Given the description of an element on the screen output the (x, y) to click on. 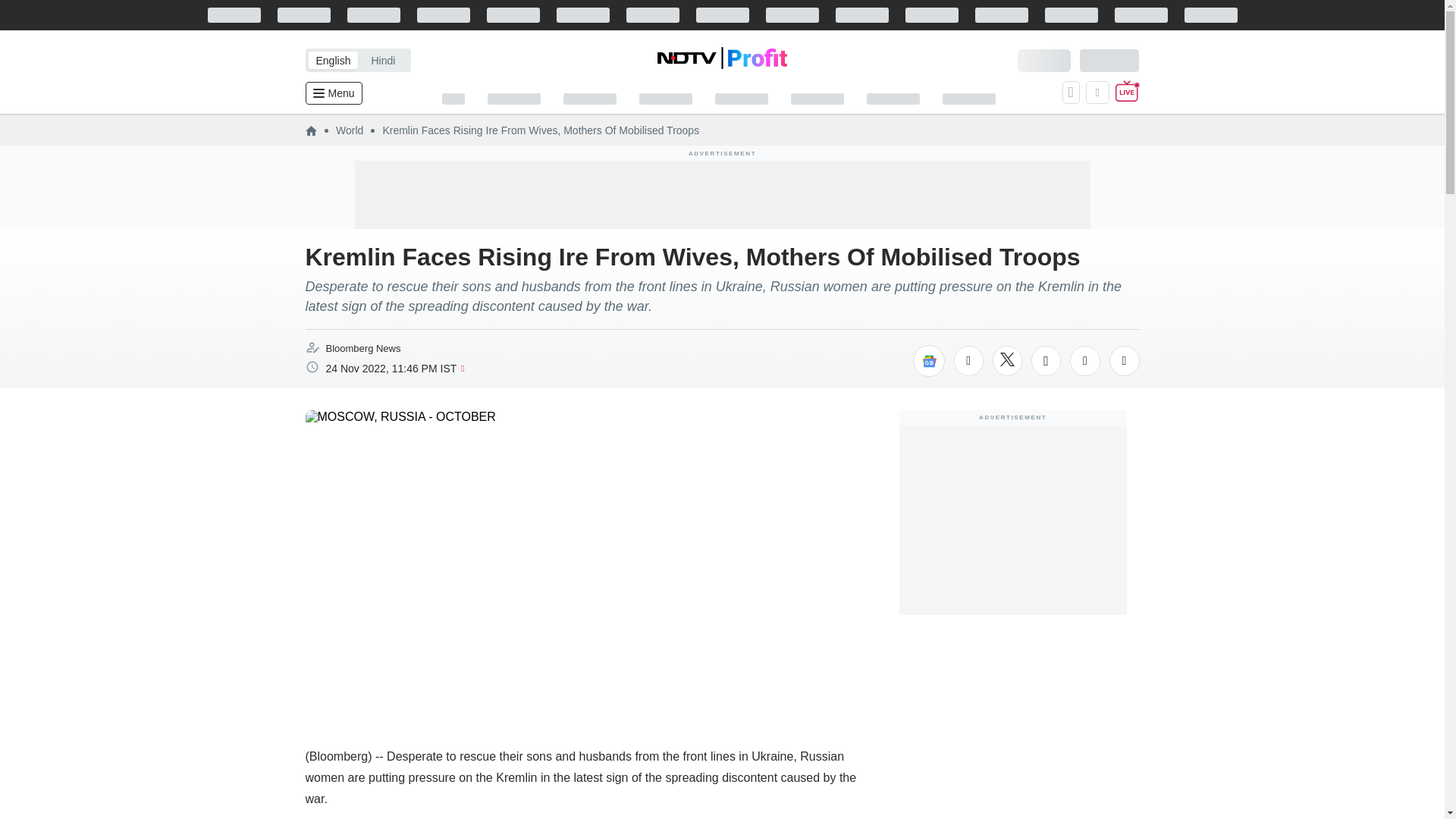
Hindi (382, 59)
Hindi (382, 59)
Live TV (1127, 92)
English (332, 59)
Menu (332, 92)
